Given the description of an element on the screen output the (x, y) to click on. 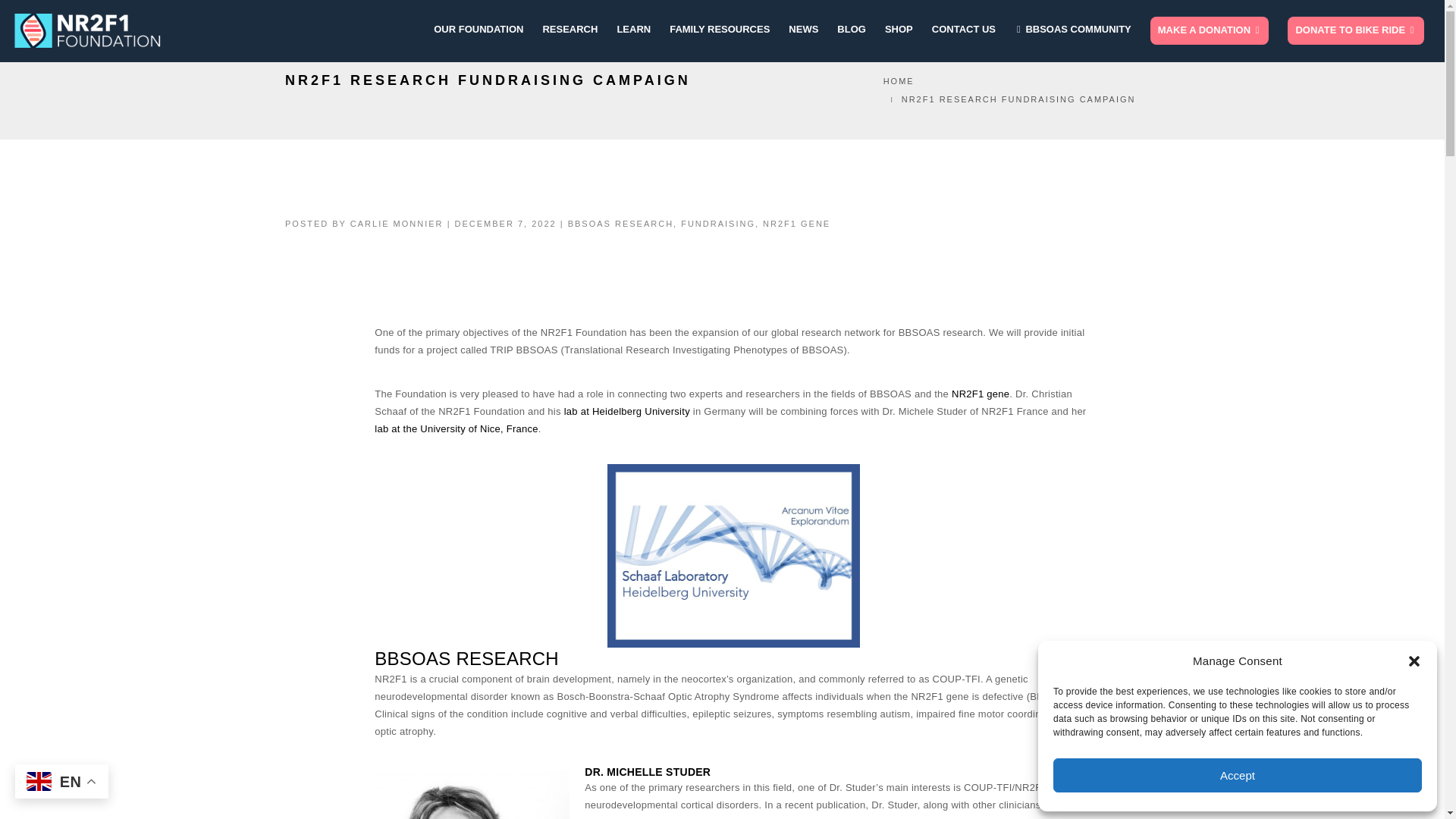
OUR FOUNDATION (477, 29)
LEARN (632, 29)
Browse to: Home (898, 80)
Accept (1237, 775)
RESEARCH (568, 29)
